Given the description of an element on the screen output the (x, y) to click on. 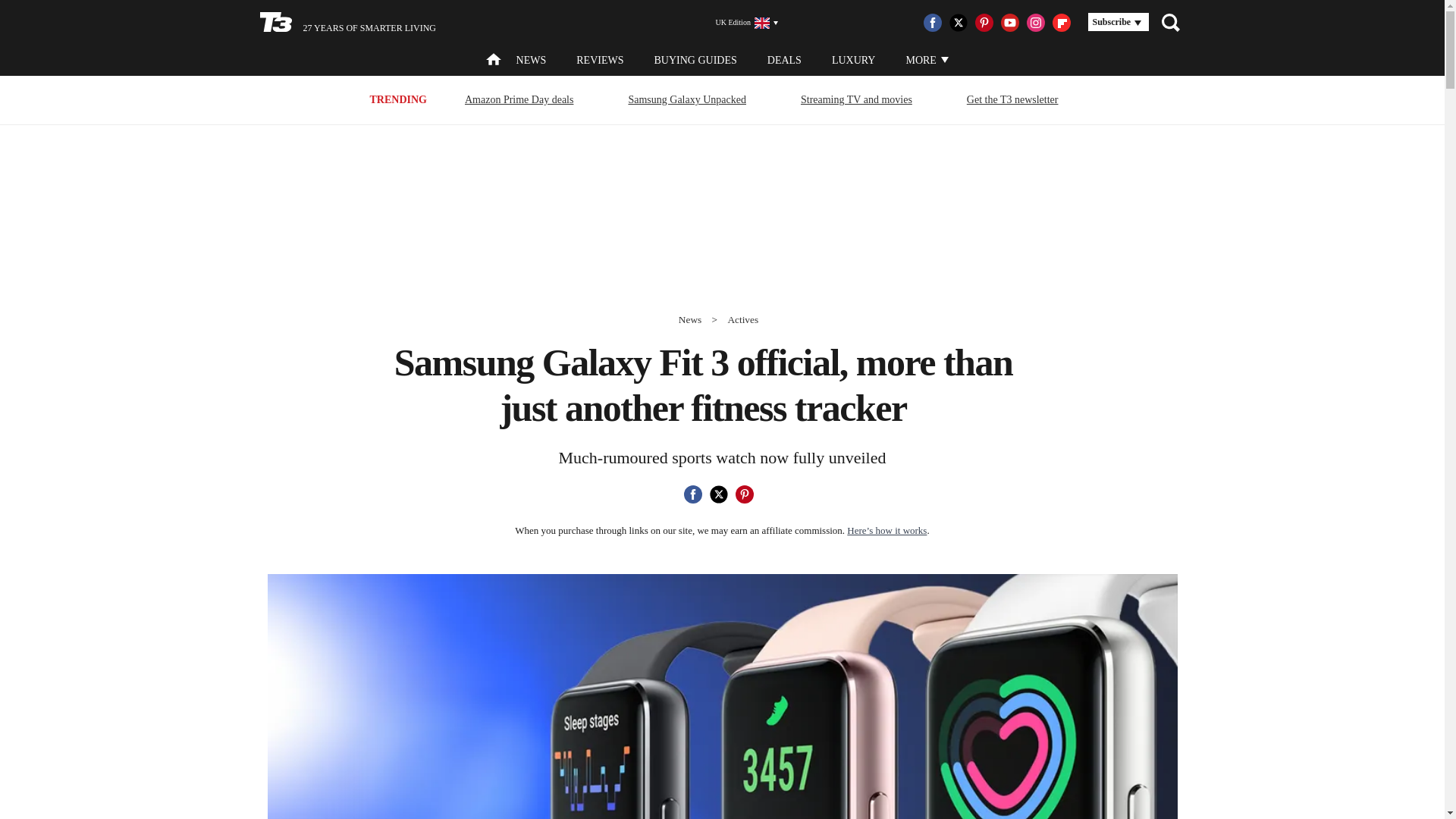
REVIEWS (599, 60)
LUXURY (853, 60)
Samsung Galaxy Unpacked (687, 99)
27 YEARS OF SMARTER LIVING (347, 23)
UK Edition (740, 22)
DEALS (784, 60)
BUYING GUIDES (694, 60)
Amazon Prime Day deals (519, 99)
NEWS (531, 60)
